Given the description of an element on the screen output the (x, y) to click on. 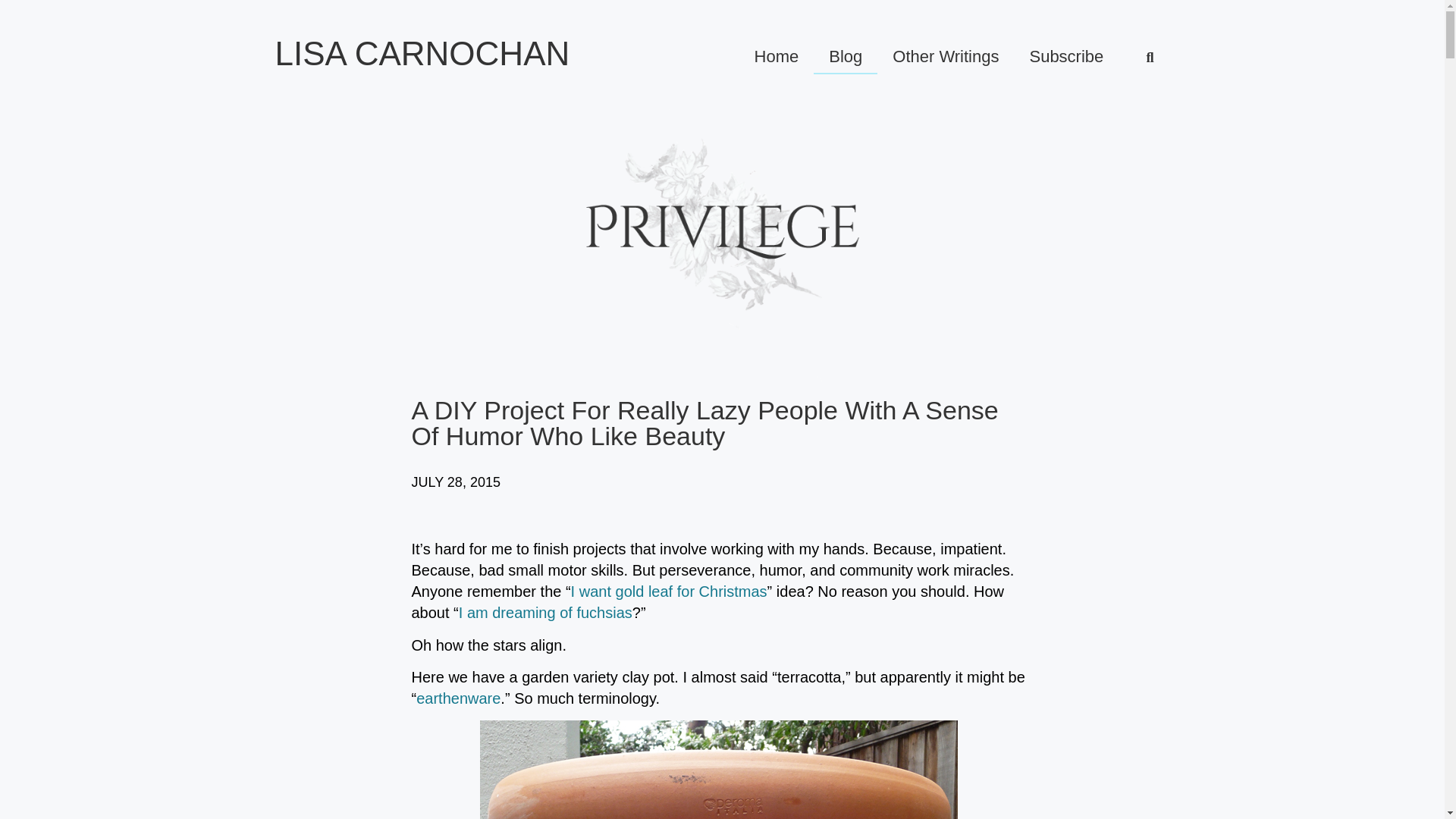
Blog (845, 56)
I want gold leaf for Christmas (668, 591)
I am dreaming of fuchsias (544, 612)
Subscribe (1065, 56)
LISA CARNOCHAN (422, 53)
earthenware (458, 698)
Other Writings (945, 56)
Home (776, 56)
